Given the description of an element on the screen output the (x, y) to click on. 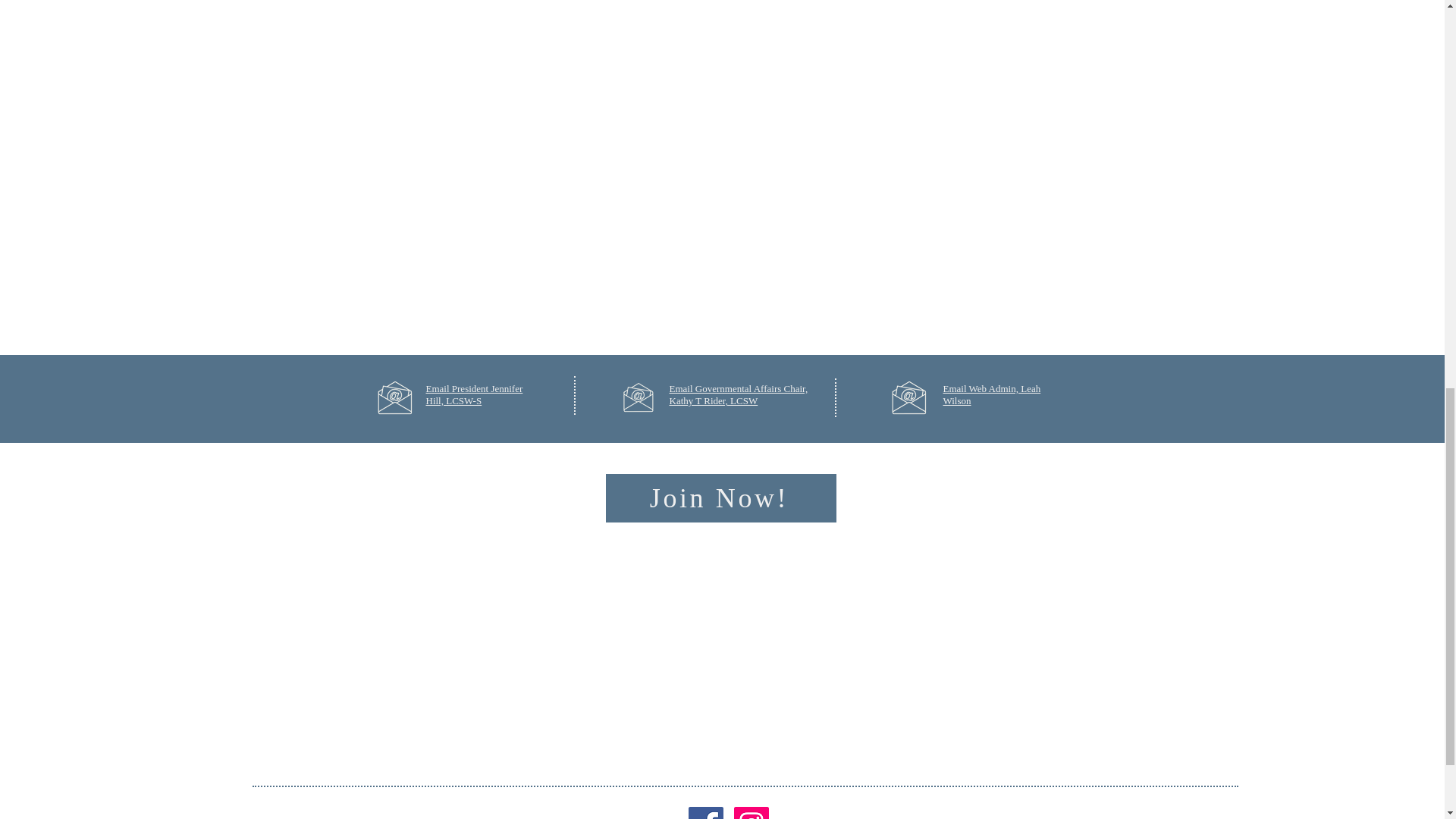
Email Web Admin, Leah Wilson (992, 394)
Email President Jennifer Hill, LCSW-S (474, 394)
Email Governmental Affairs Chair, Kathy T Rider, LCSW (738, 394)
Join Now! (720, 498)
